Given the description of an element on the screen output the (x, y) to click on. 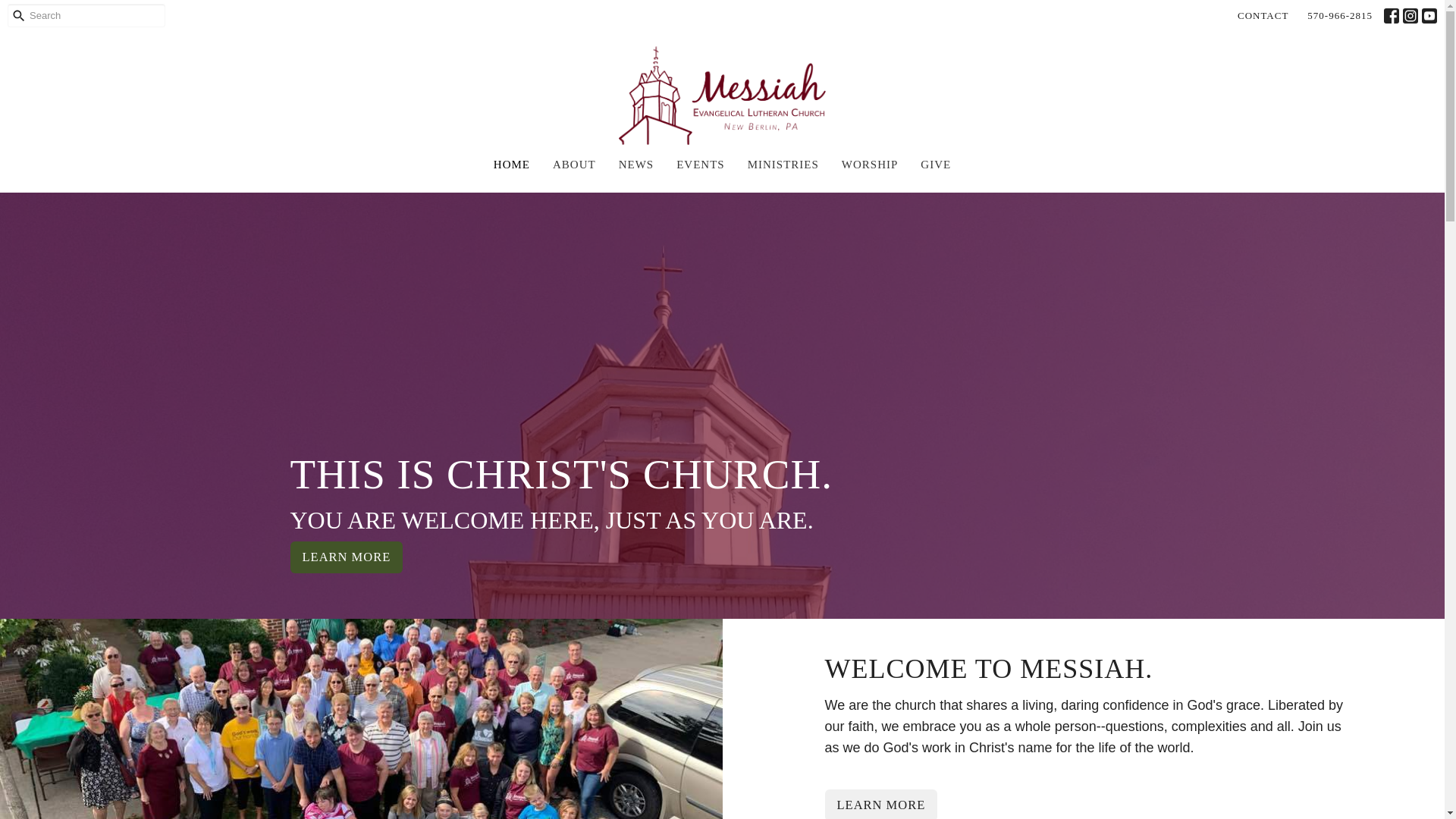
EVENTS (701, 164)
MINISTRIES (783, 164)
570-966-2815 (1340, 15)
GIVE (935, 164)
HOME (511, 164)
LEARN MORE (346, 557)
ABOUT (574, 164)
CONTACT (1262, 15)
LEARN MORE (881, 804)
WORSHIP (869, 164)
NEWS (635, 164)
